Given the description of an element on the screen output the (x, y) to click on. 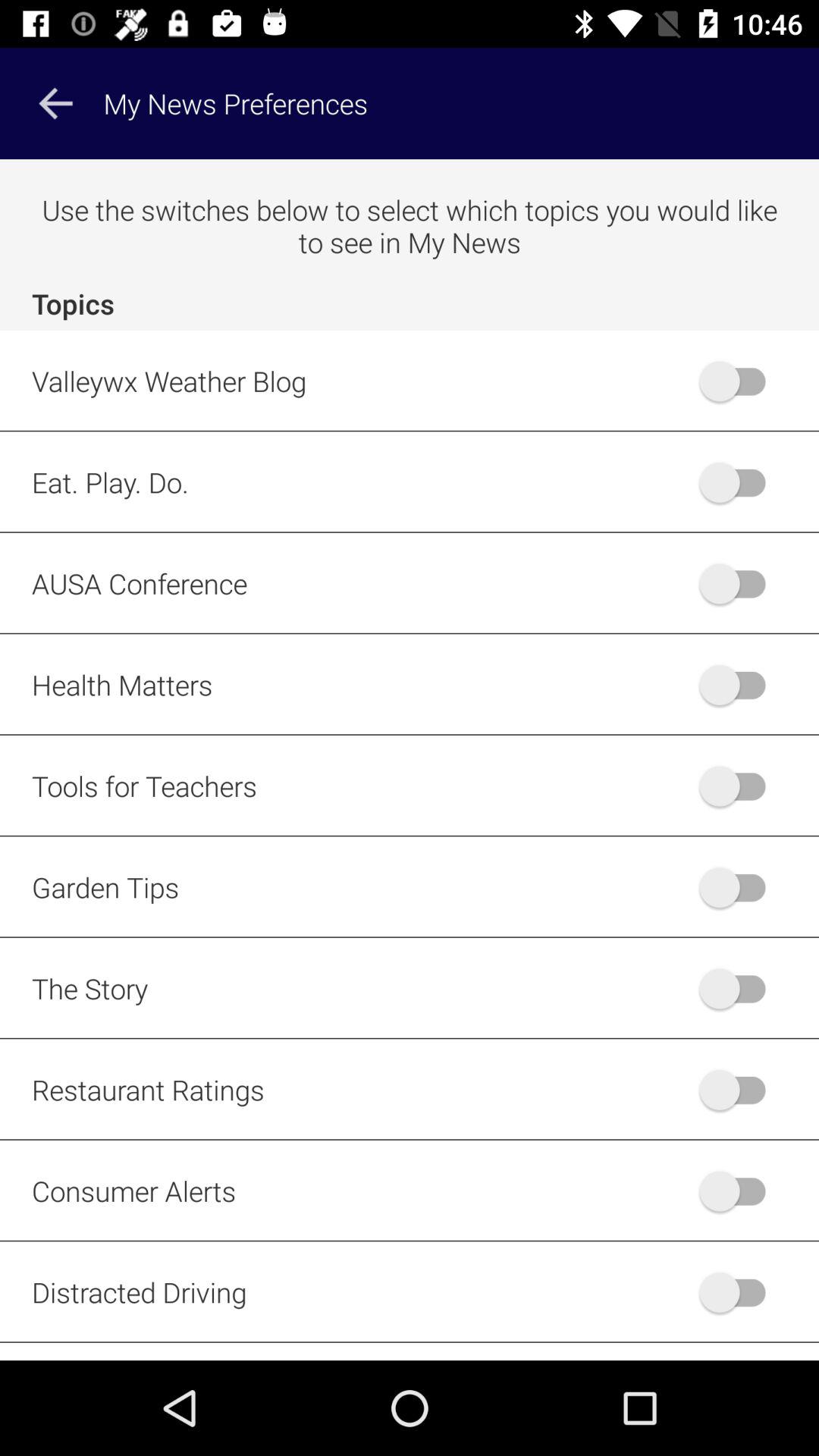
toggle distracted driving (739, 1291)
